Given the description of an element on the screen output the (x, y) to click on. 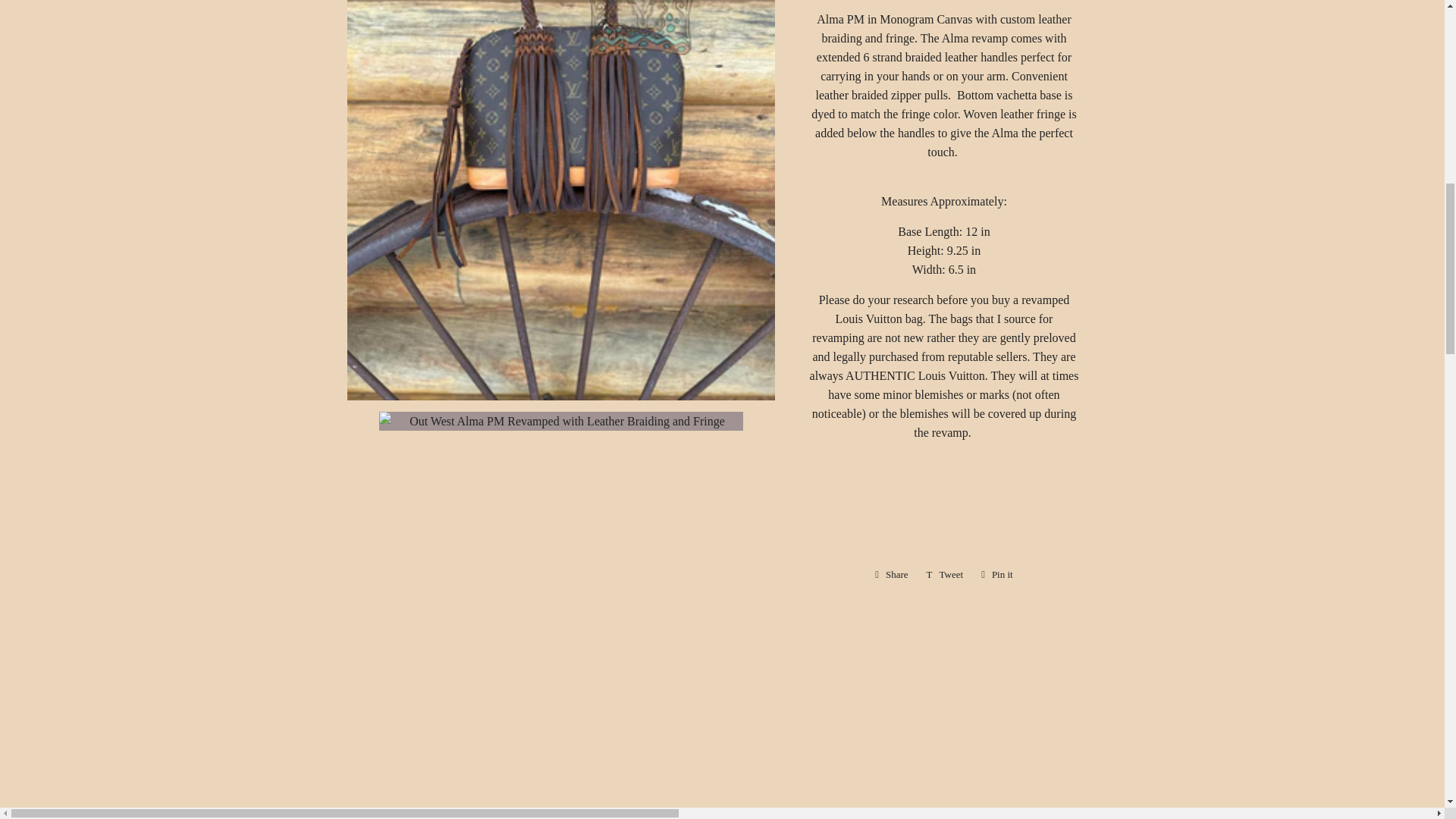
Tweet on Twitter (944, 574)
Share on Facebook (891, 574)
Pin on Pinterest (997, 574)
